Given the description of an element on the screen output the (x, y) to click on. 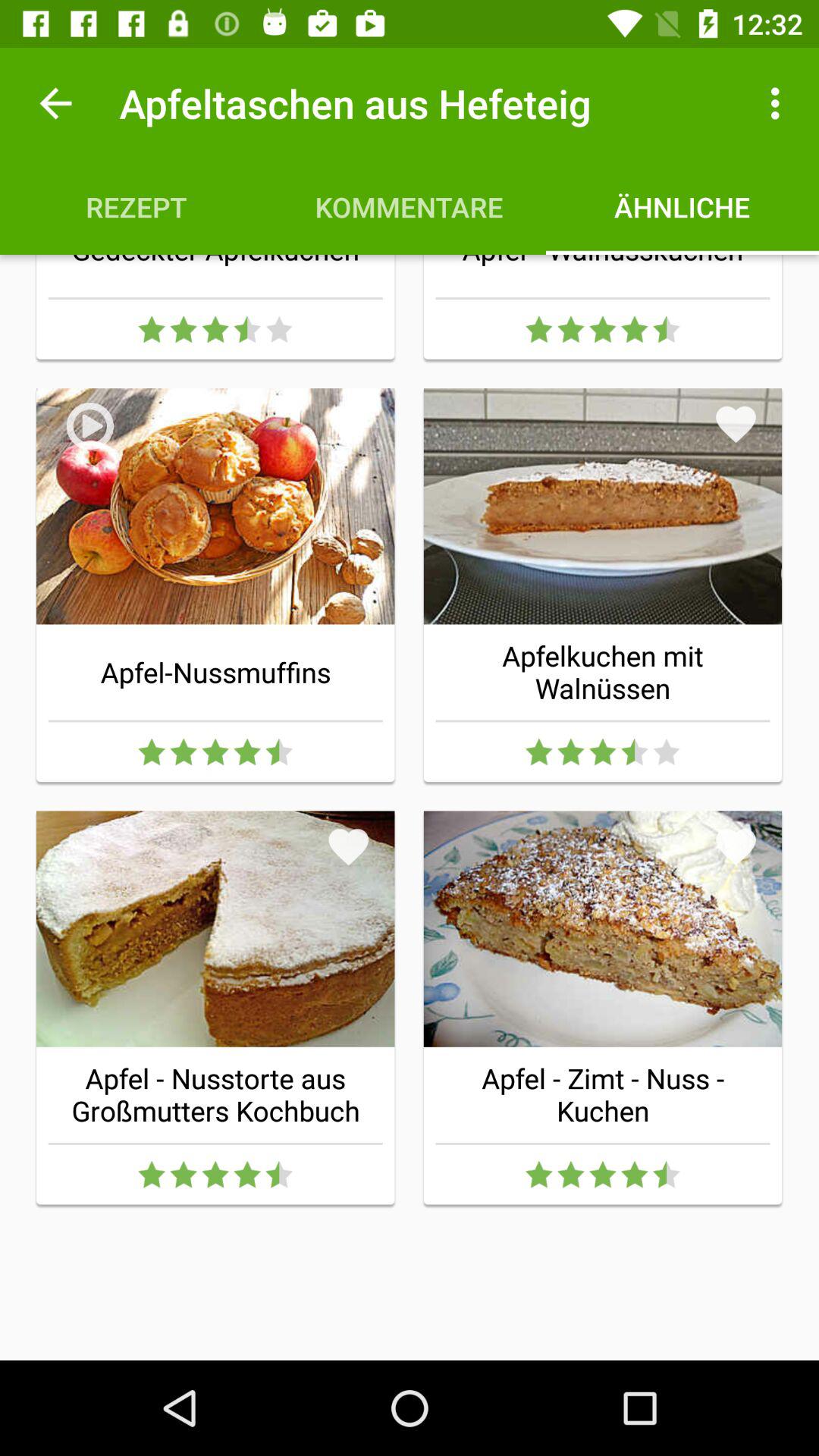
select the item to the right of apfeltaschen aus hefeteig (779, 103)
